Given the description of an element on the screen output the (x, y) to click on. 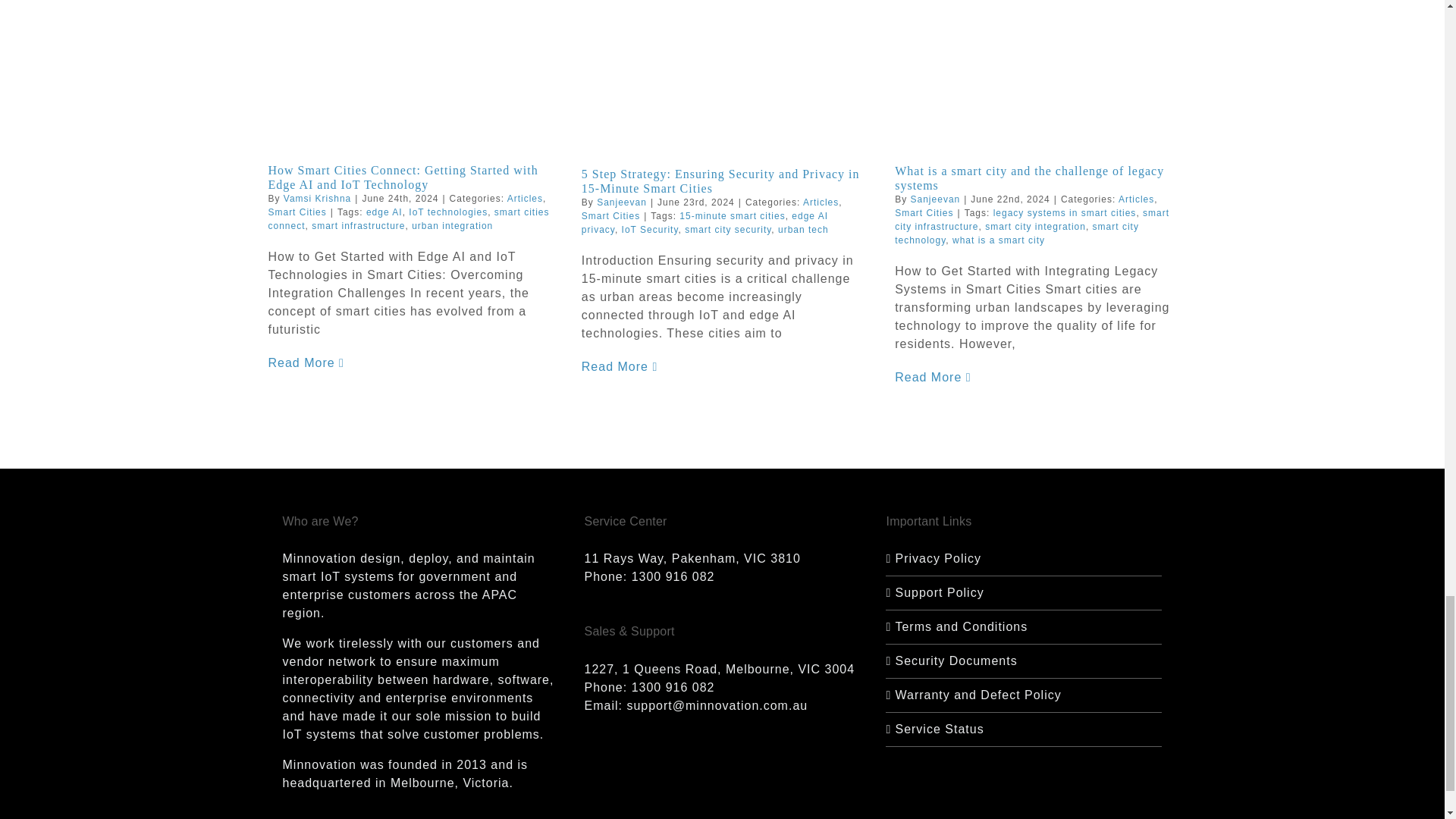
Posts by Sanjeevan (621, 202)
Posts by Vamsi Krishna (316, 198)
Posts by Sanjeevan (935, 199)
